Given the description of an element on the screen output the (x, y) to click on. 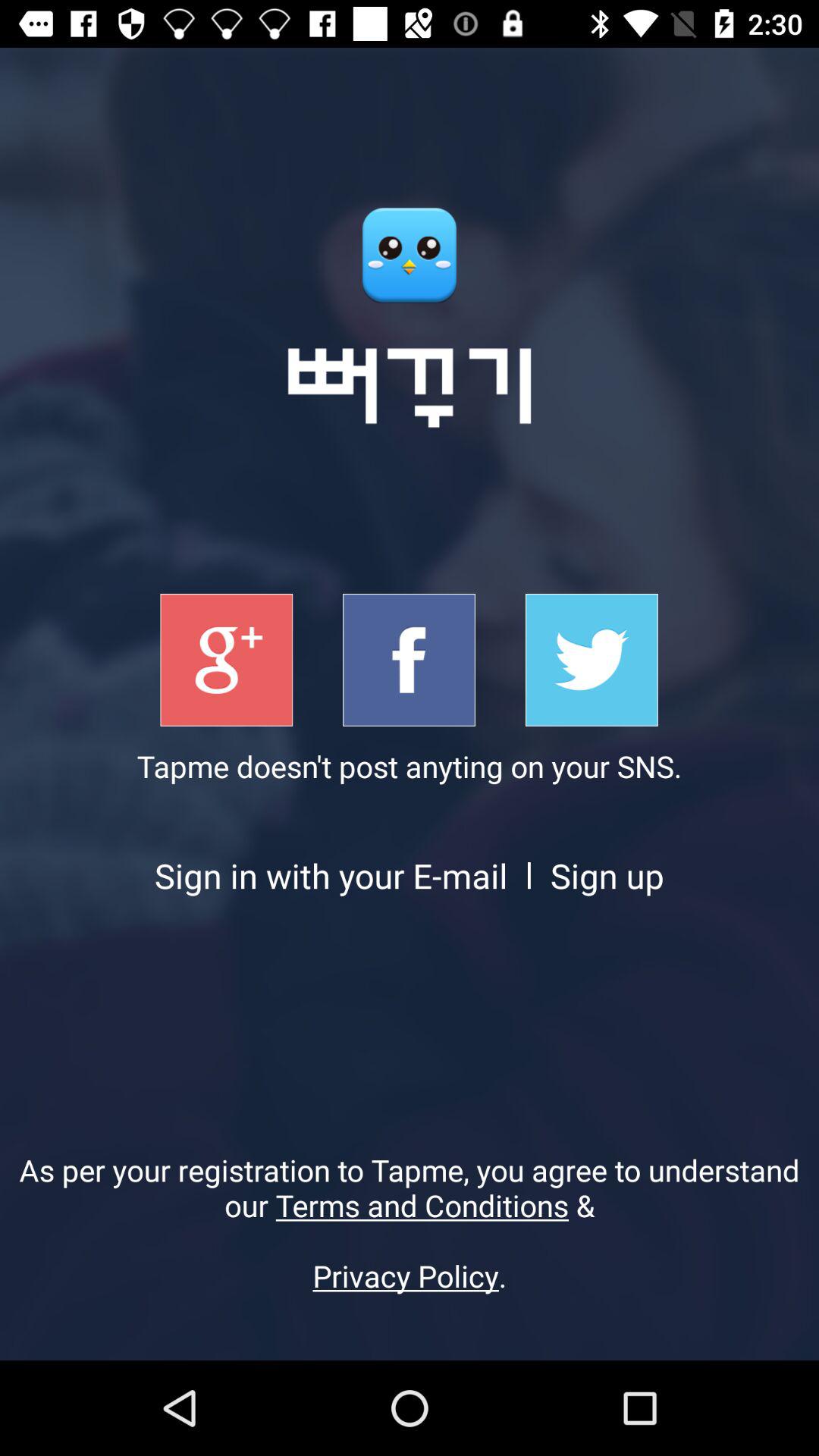
facebook (408, 659)
